Given the description of an element on the screen output the (x, y) to click on. 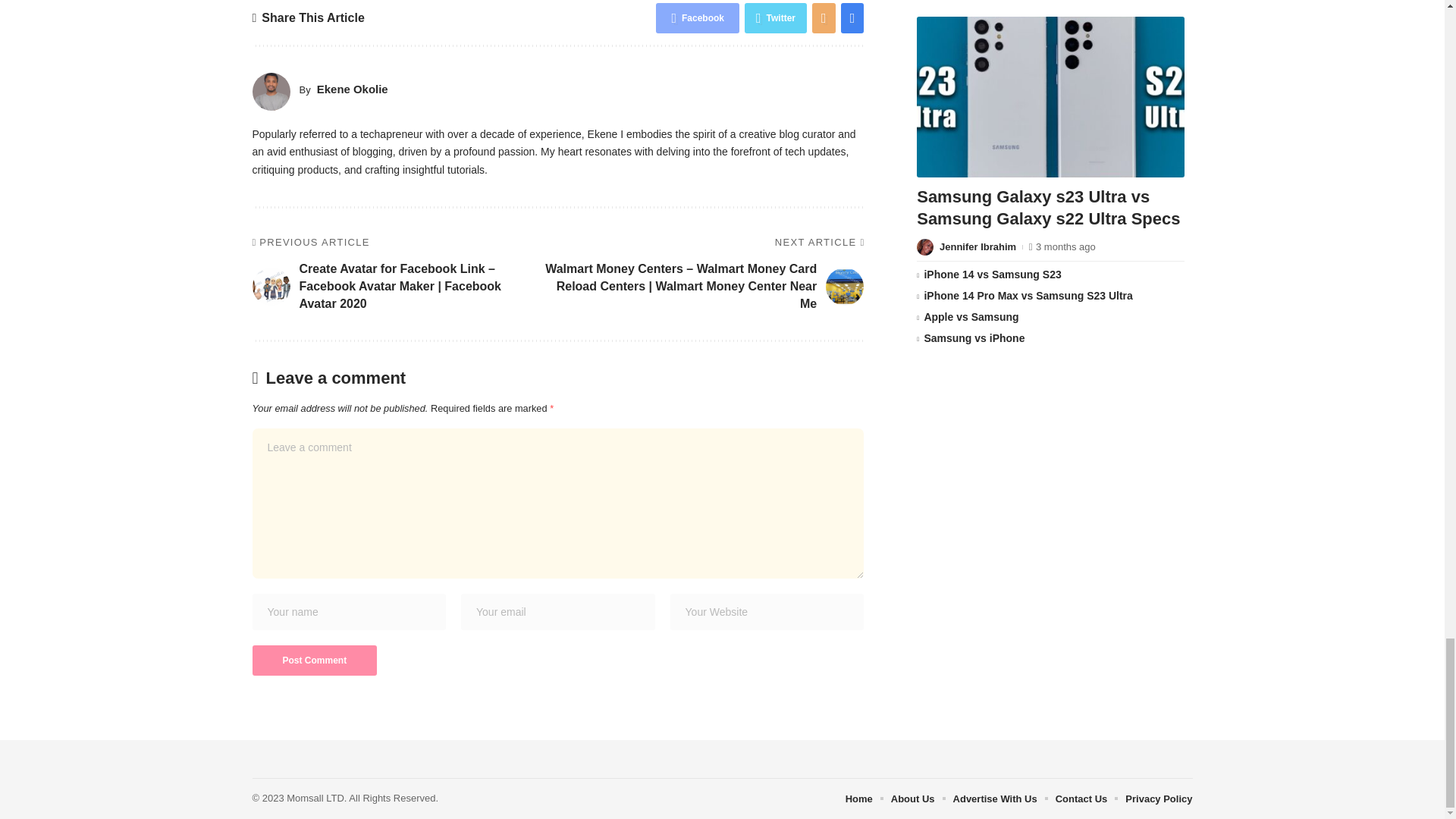
Post Comment (314, 660)
